Given the description of an element on the screen output the (x, y) to click on. 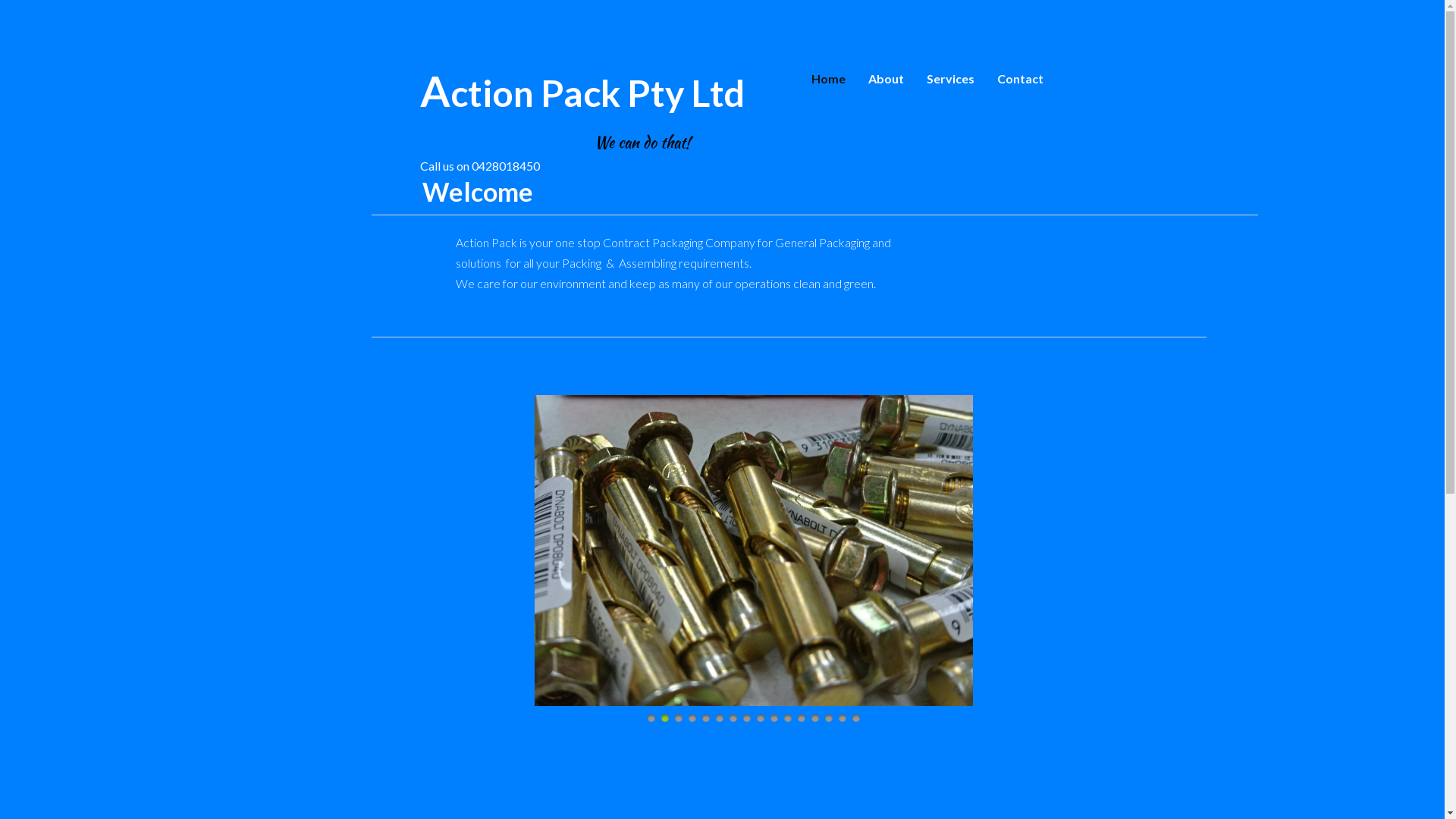
About Element type: text (885, 78)
Home Element type: text (827, 78)
Services Element type: text (949, 78)
Contact Element type: text (1019, 78)
